Given the description of an element on the screen output the (x, y) to click on. 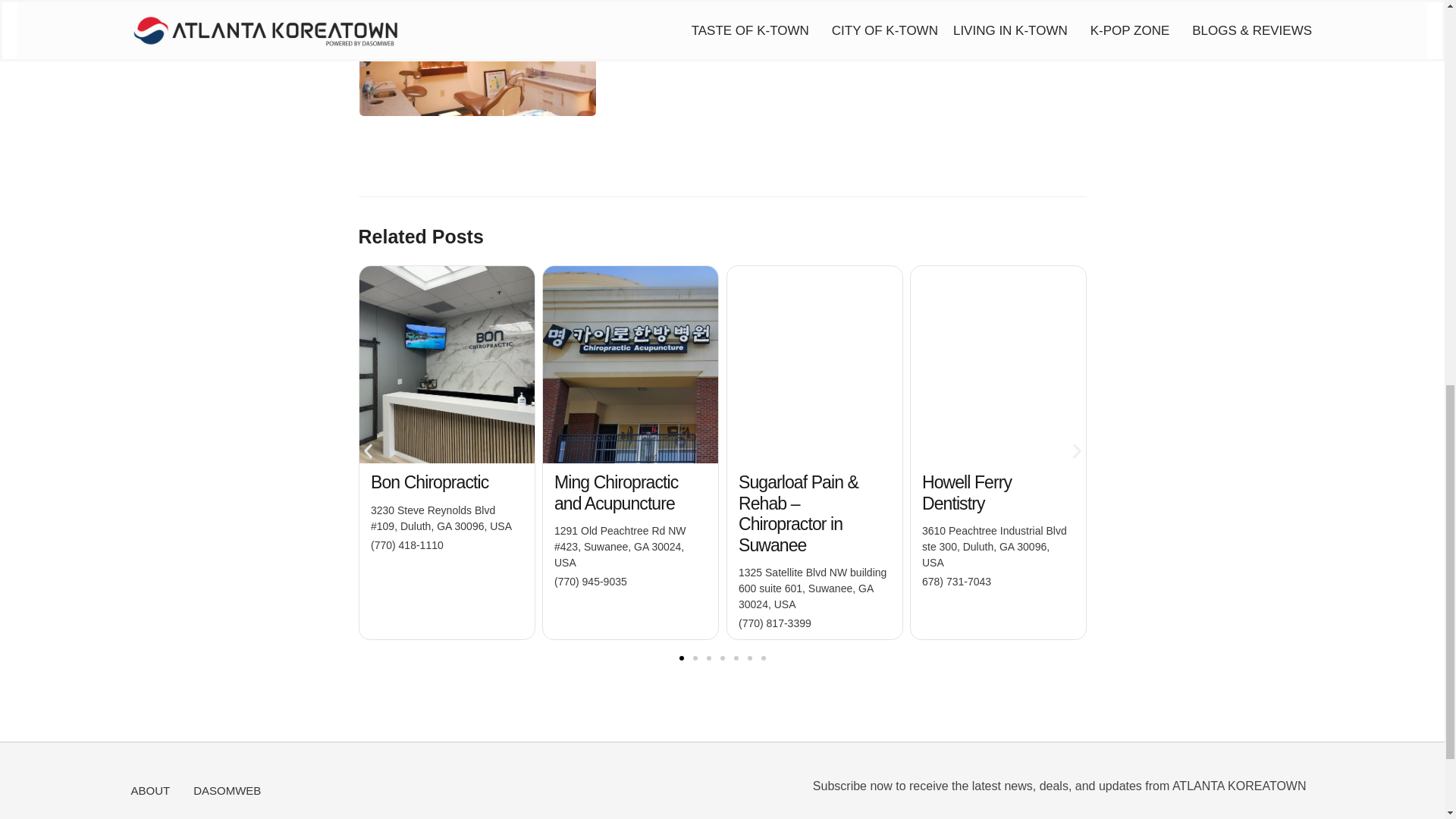
2024-03-19-3 (446, 364)
